Given the description of an element on the screen output the (x, y) to click on. 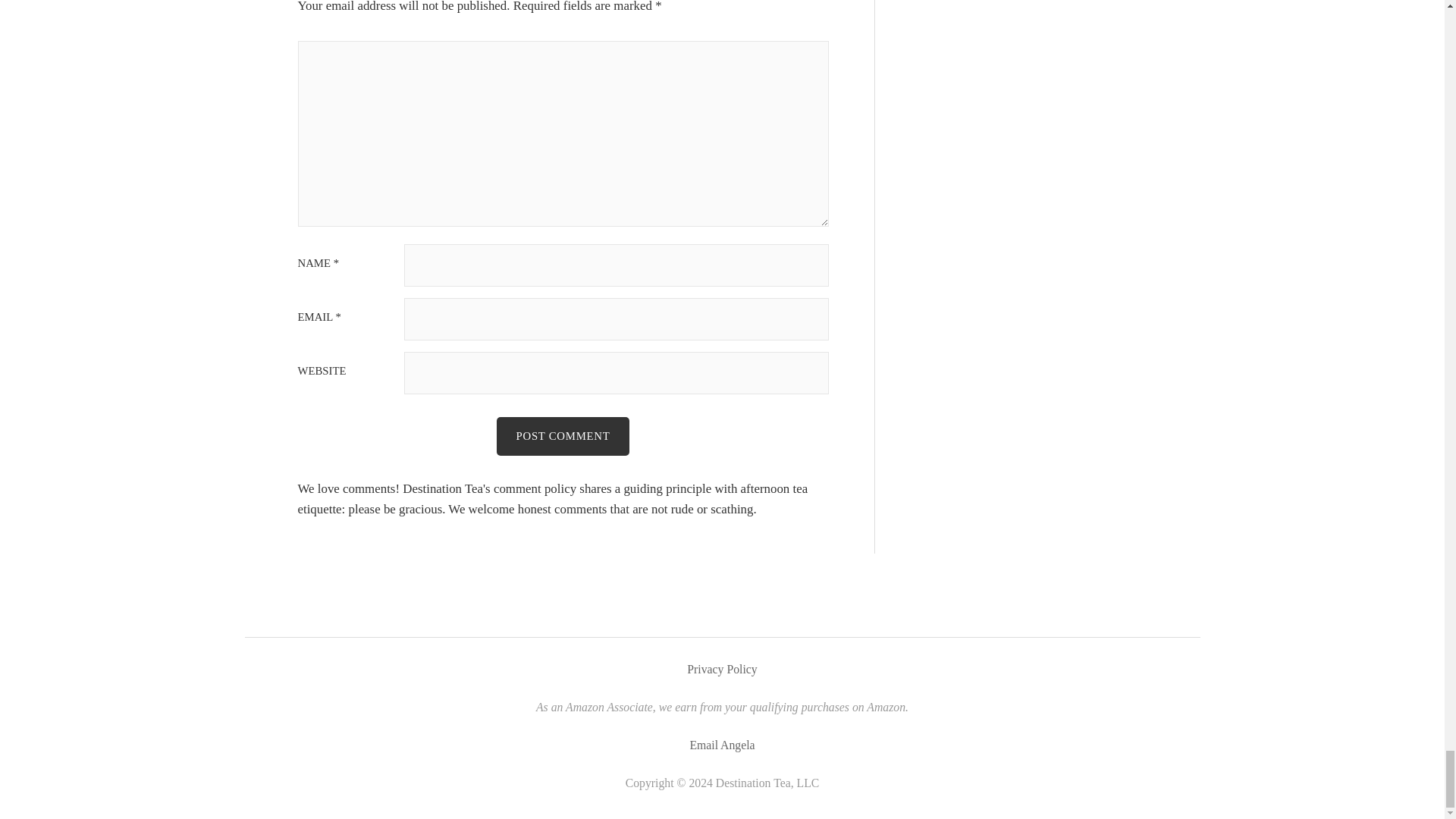
Post Comment (562, 435)
